Given the description of an element on the screen output the (x, y) to click on. 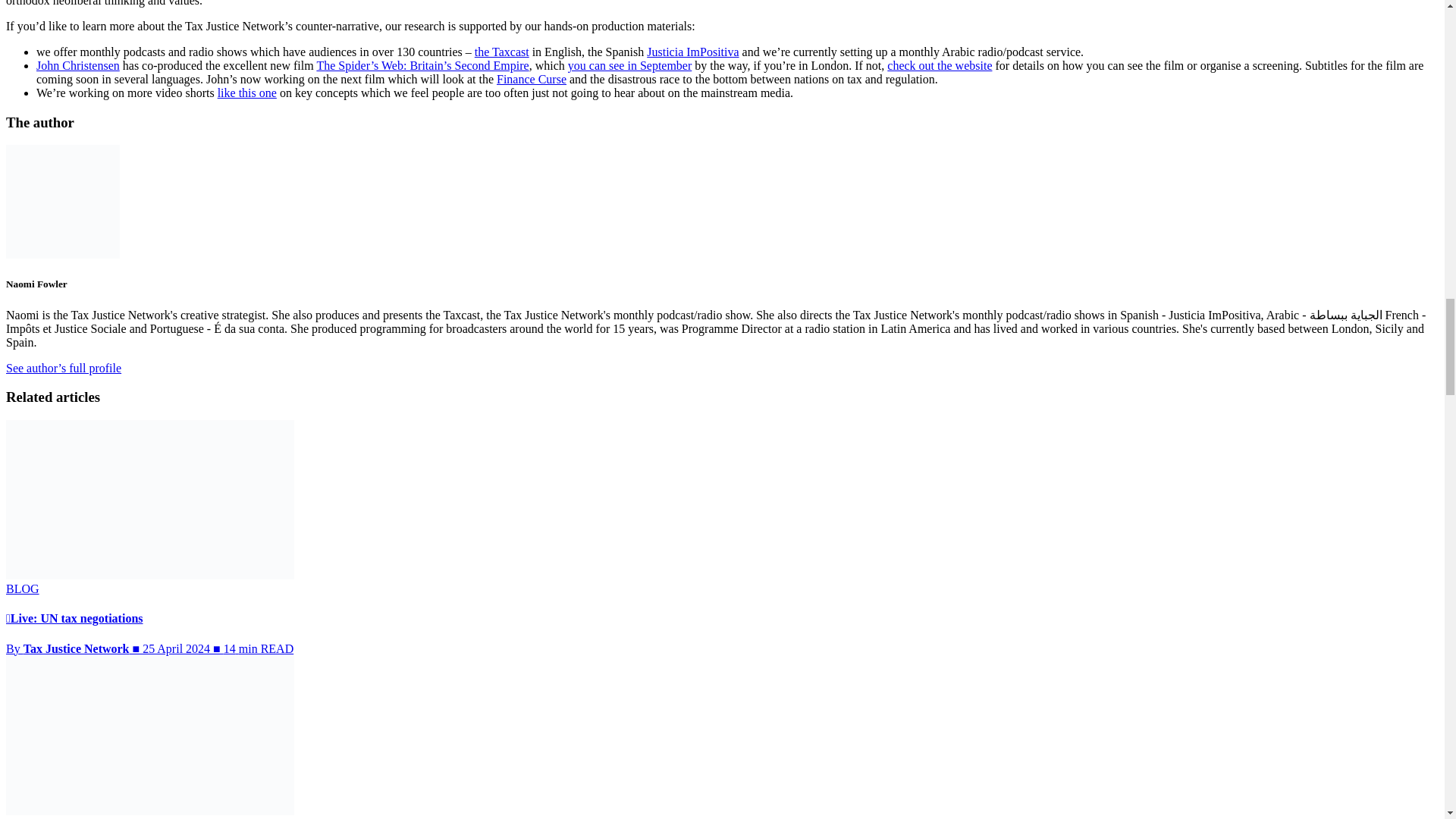
PM Keir Starmer and President Biden speak at NATO Summit (409, 32)
shell games3 (955, 32)
